Given the description of an element on the screen output the (x, y) to click on. 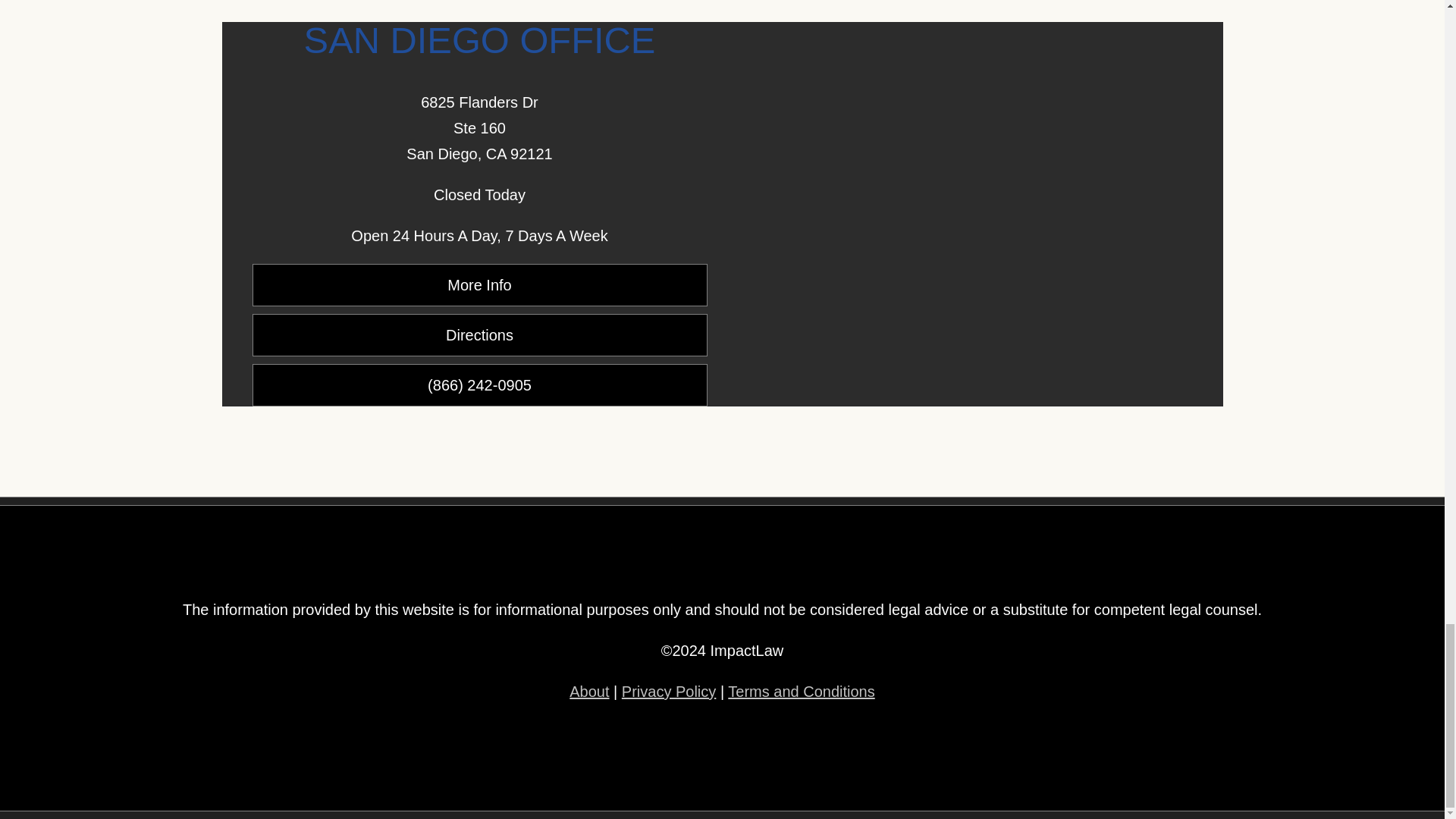
About (588, 691)
SAN DIEGO OFFICE (480, 39)
Terms and Conditions (801, 691)
Directions (478, 334)
More Info (478, 284)
Privacy Policy (668, 691)
